Given the description of an element on the screen output the (x, y) to click on. 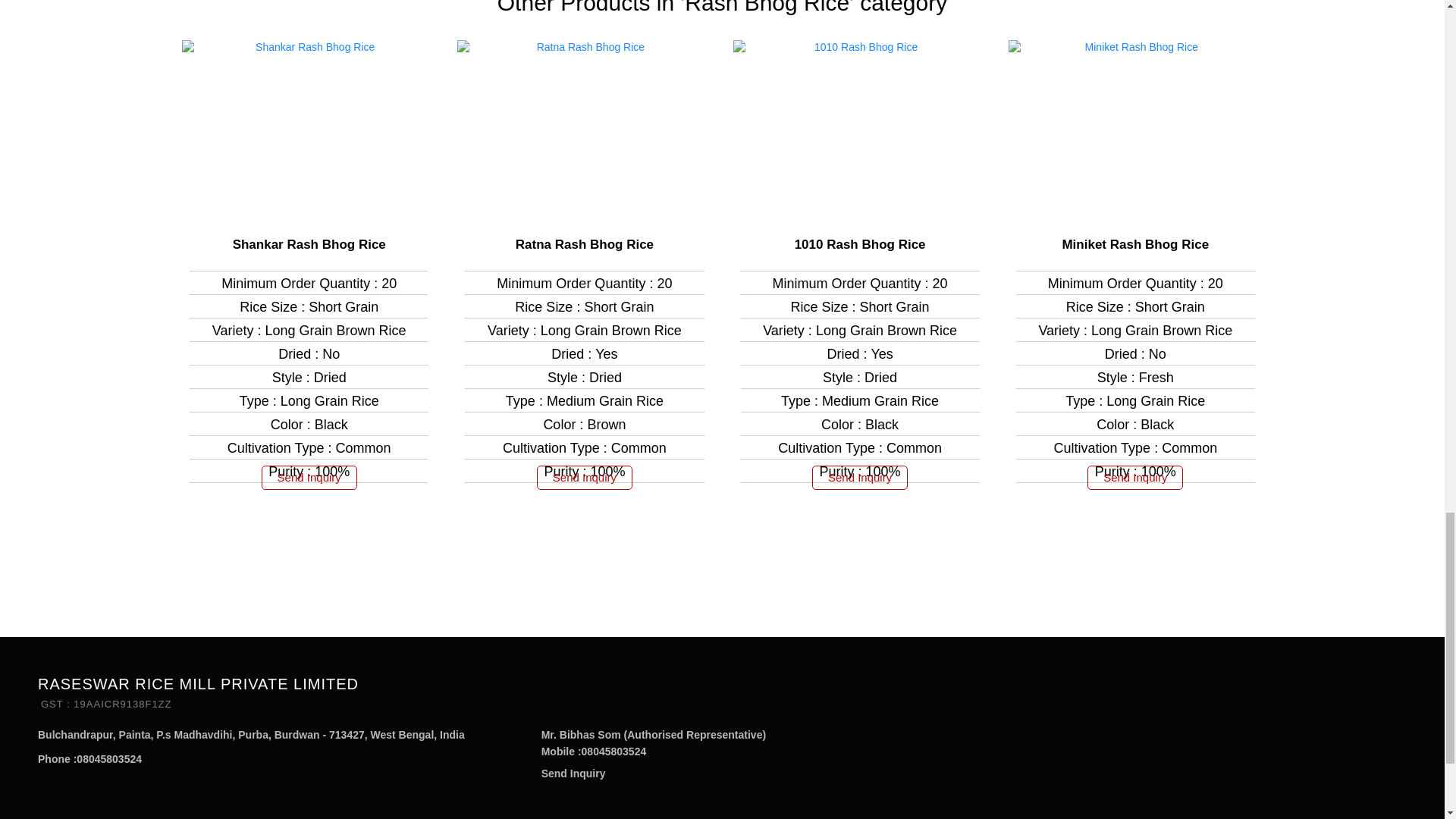
1010 Rash Bhog Rice (860, 244)
Shankar Rash Bhog Rice (308, 244)
Ratna Rash Bhog Rice (584, 244)
Miniket Rash Bhog Rice (1134, 244)
Send Inquiry (309, 477)
Send Inquiry (573, 773)
Send Inquiry (859, 477)
Send Inquiry (1134, 477)
Send Inquiry (584, 477)
